Given the description of an element on the screen output the (x, y) to click on. 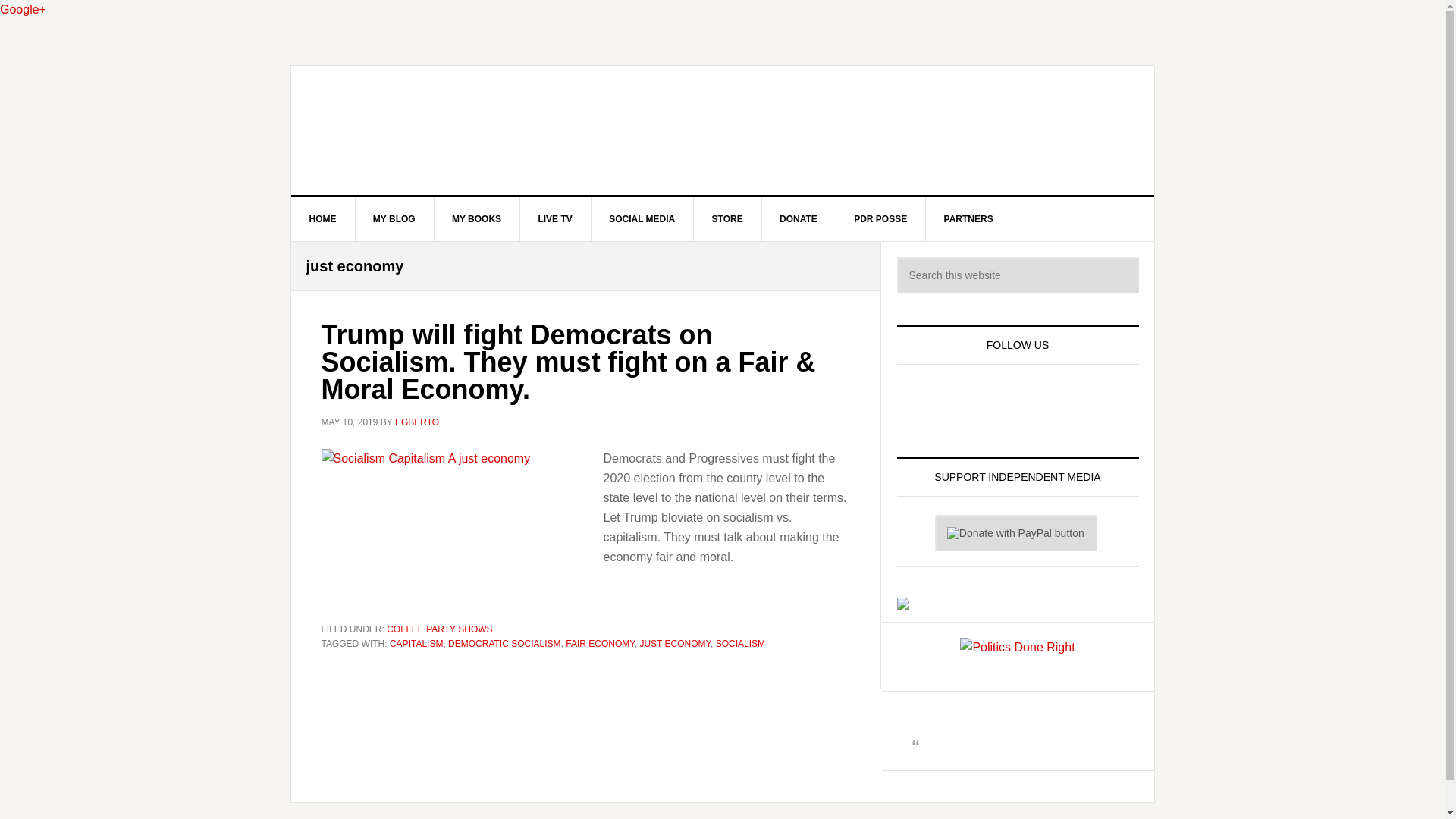
MY BOOKS (476, 218)
COFFEE PARTY SHOWS (439, 628)
STORE (727, 218)
PDR POSSE (880, 218)
CAPITALISM (416, 643)
DEMOCRATIC SOCIALISM (504, 643)
POLITICS DONE RIGHT (722, 130)
LIVE TV (555, 218)
PARTNERS (968, 218)
